Given the description of an element on the screen output the (x, y) to click on. 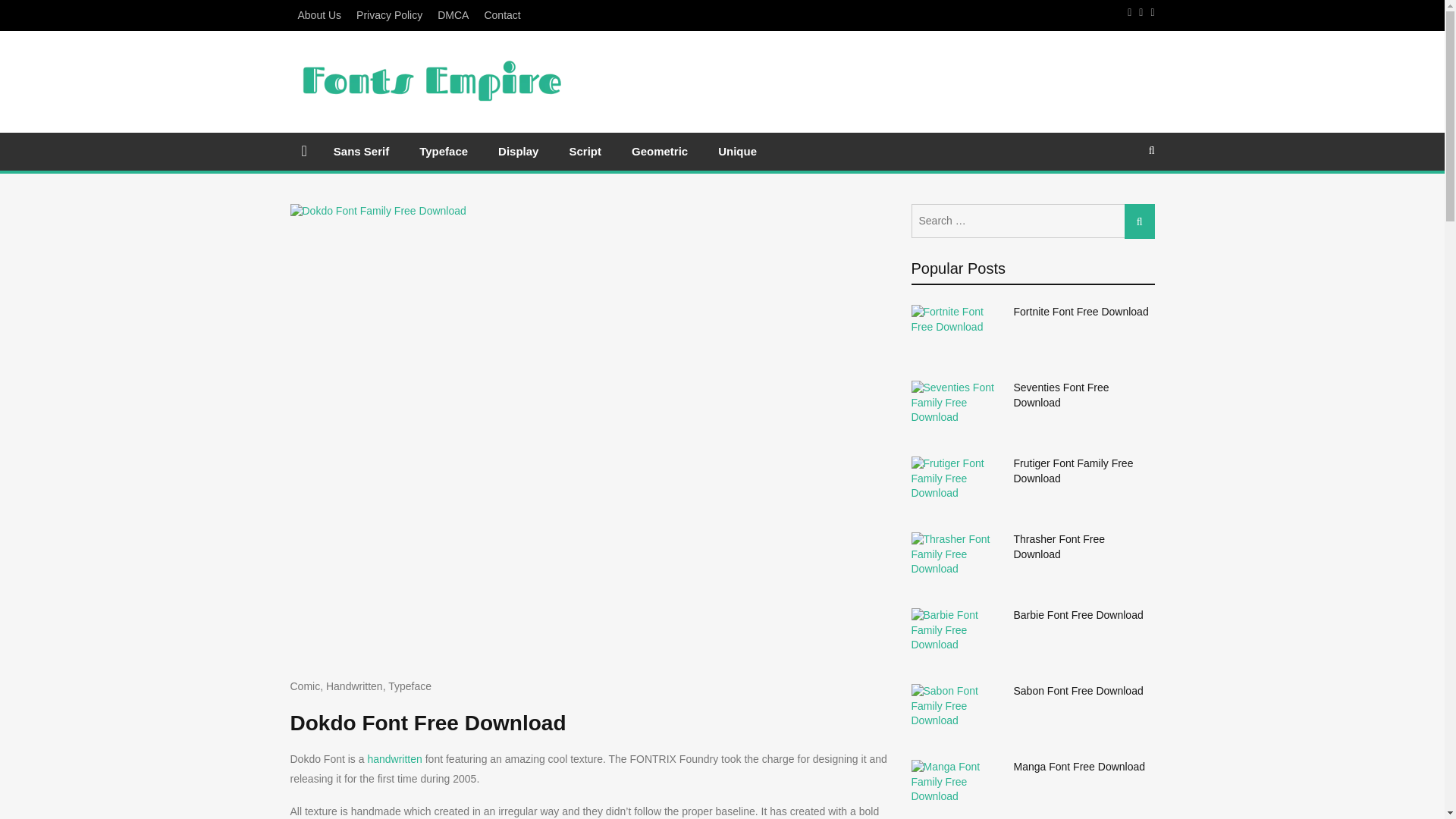
Geometric (659, 150)
Comic (304, 686)
Typeface (443, 150)
handwritten (394, 758)
About Us (319, 15)
Contact (501, 15)
Typeface (409, 686)
Privacy Policy (389, 15)
DMCA (452, 15)
Handwritten (354, 686)
